Given the description of an element on the screen output the (x, y) to click on. 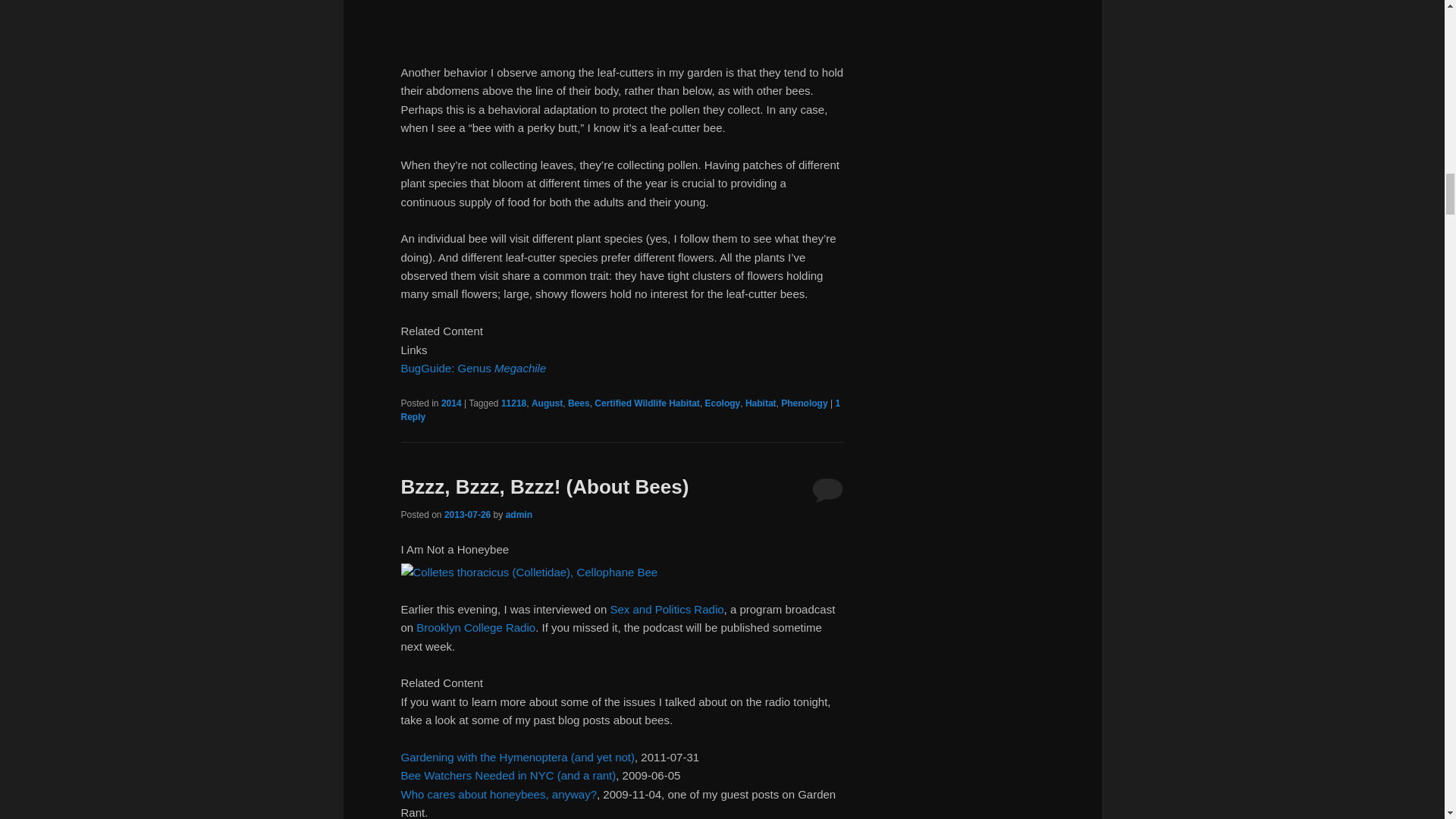
BugGuide: Genus Megachile (473, 367)
August (546, 403)
2014 (451, 403)
View all posts by admin (518, 514)
11218 (512, 403)
Bees (578, 403)
01:18 (467, 514)
